Given the description of an element on the screen output the (x, y) to click on. 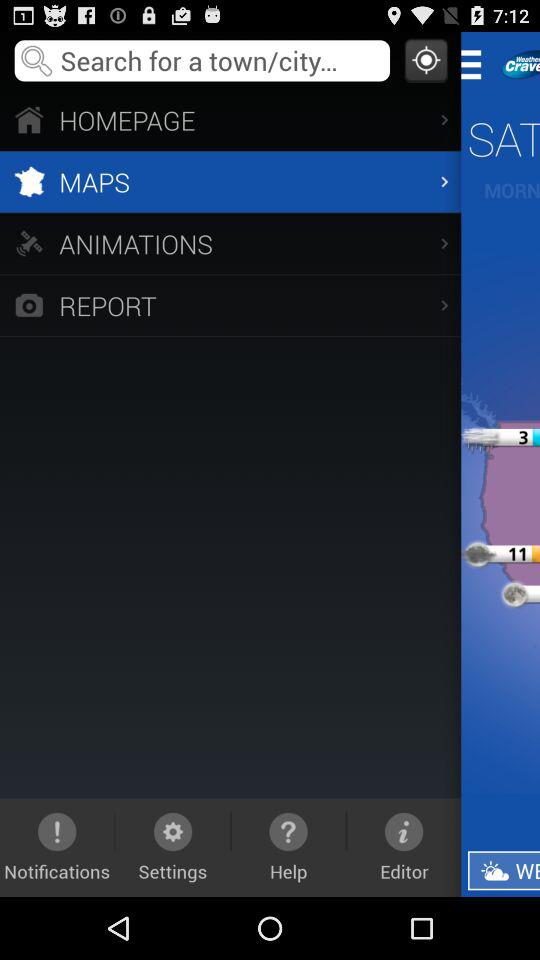
open weather button (504, 870)
